Given the description of an element on the screen output the (x, y) to click on. 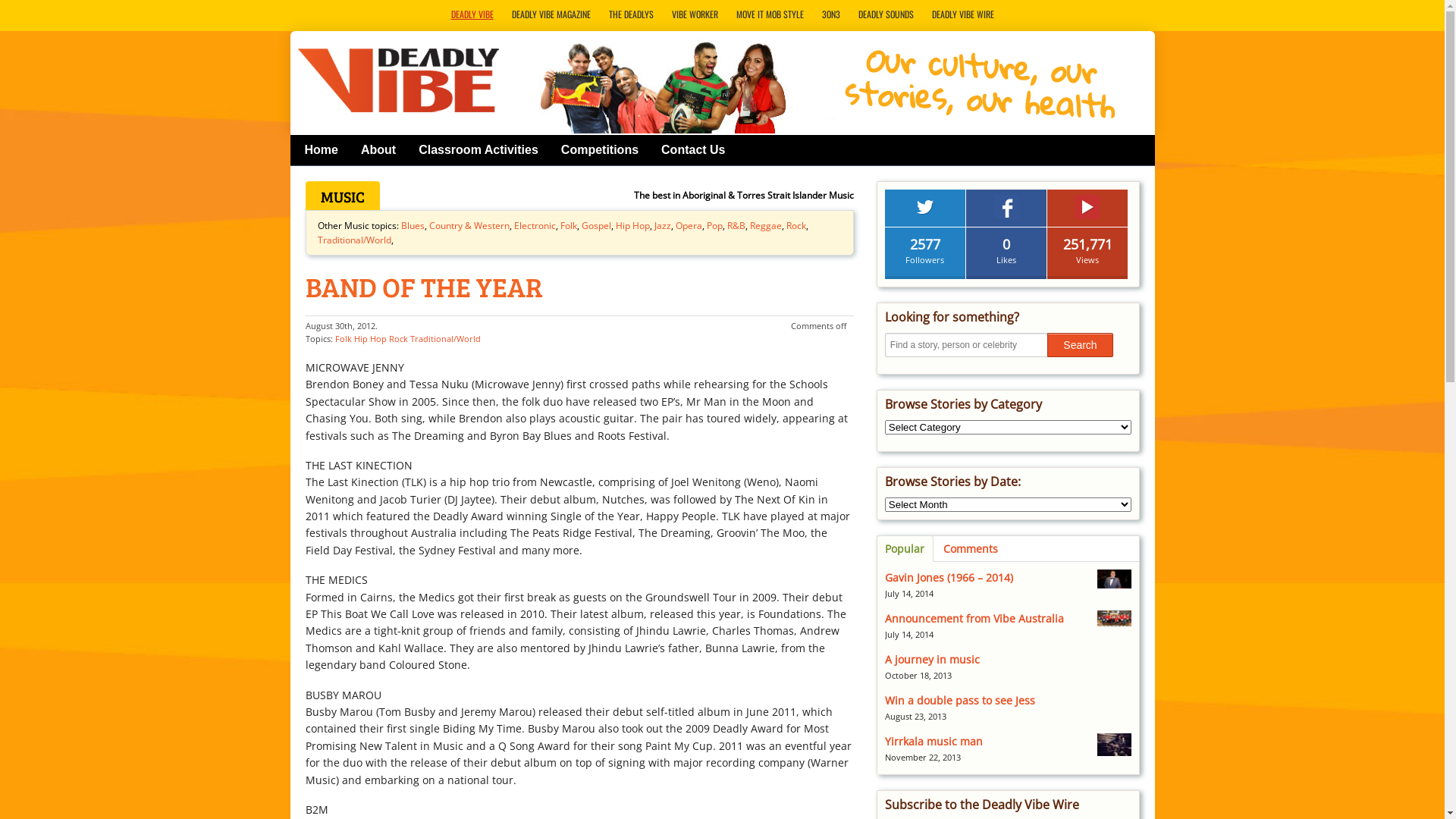
Popular Element type: text (905, 548)
Competitions Element type: text (599, 149)
MUSIC Element type: text (342, 196)
Country & Western Element type: text (469, 225)
Blues Element type: text (411, 225)
Electronic Element type: text (534, 225)
Traditional/World Element type: text (353, 239)
Win a double pass to see Jess Element type: text (959, 700)
Deadly Vibe Element type: hover (398, 80)
Opera Element type: text (687, 225)
Yirrkala music man Element type: text (933, 741)
A journey in music Element type: text (931, 659)
Pop Element type: text (714, 225)
Classroom Activities Element type: text (478, 149)
Contact Us Element type: text (692, 149)
Folk Element type: text (343, 338)
Search Element type: text (1079, 344)
Rock Element type: text (397, 338)
Comments Element type: text (971, 548)
About Element type: text (378, 149)
Hip Hop Element type: text (369, 338)
Reggae Element type: text (765, 225)
R&B Element type: text (735, 225)
Home Element type: text (321, 149)
Hip Hop Element type: text (632, 225)
Announcement from Vibe Australia Element type: text (973, 618)
Traditional/World Element type: text (444, 338)
Rock Element type: text (795, 225)
Folk Element type: text (567, 225)
Jazz Element type: text (661, 225)
Gospel Element type: text (595, 225)
